Given the description of an element on the screen output the (x, y) to click on. 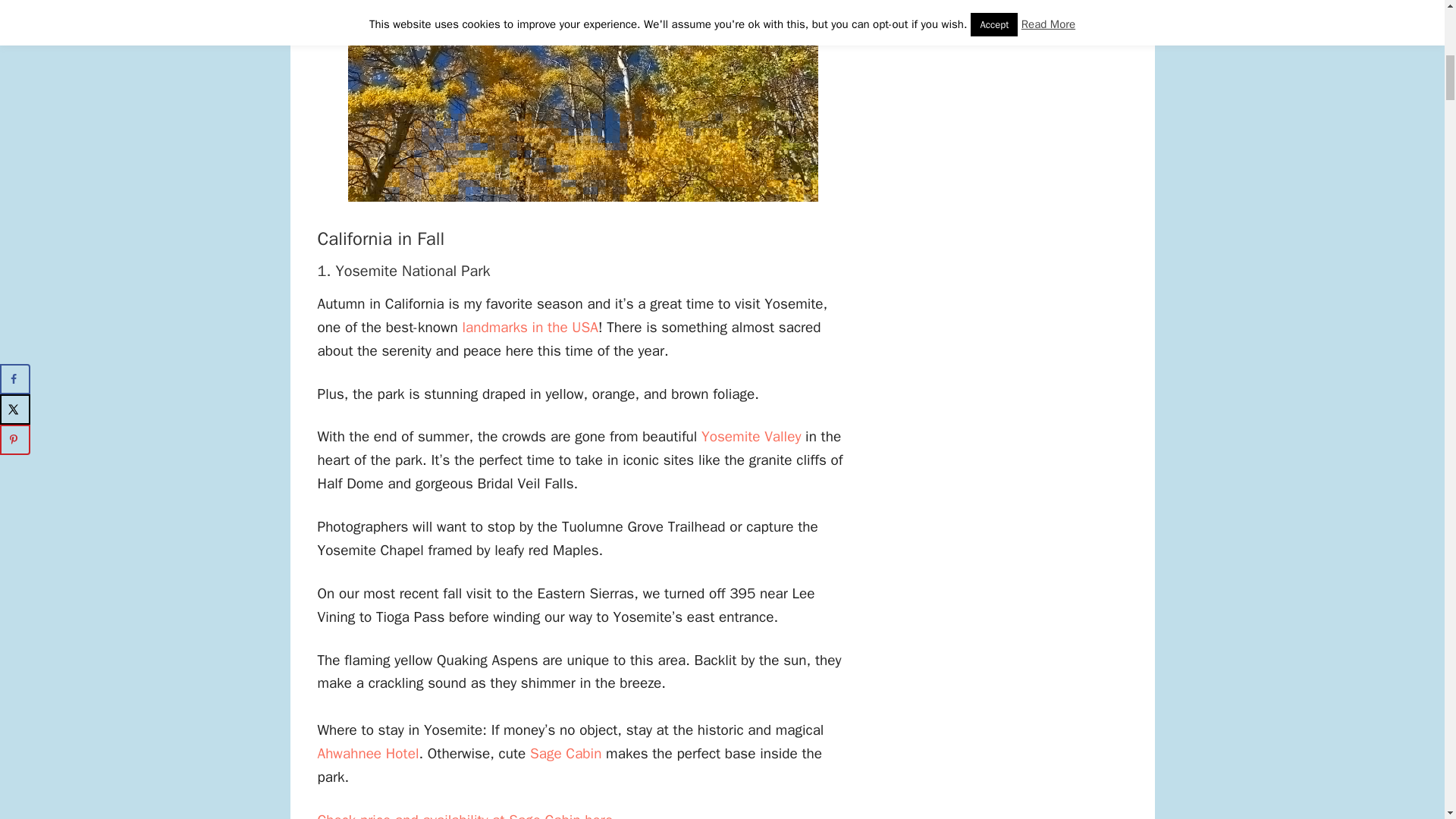
CA fall colors - Yosemite Sage cabin (565, 753)
CA fall colors - Yosemite Sage cabin (466, 815)
CA in fall - Yosemite Ahwahnee Hotel (368, 753)
